Given the description of an element on the screen output the (x, y) to click on. 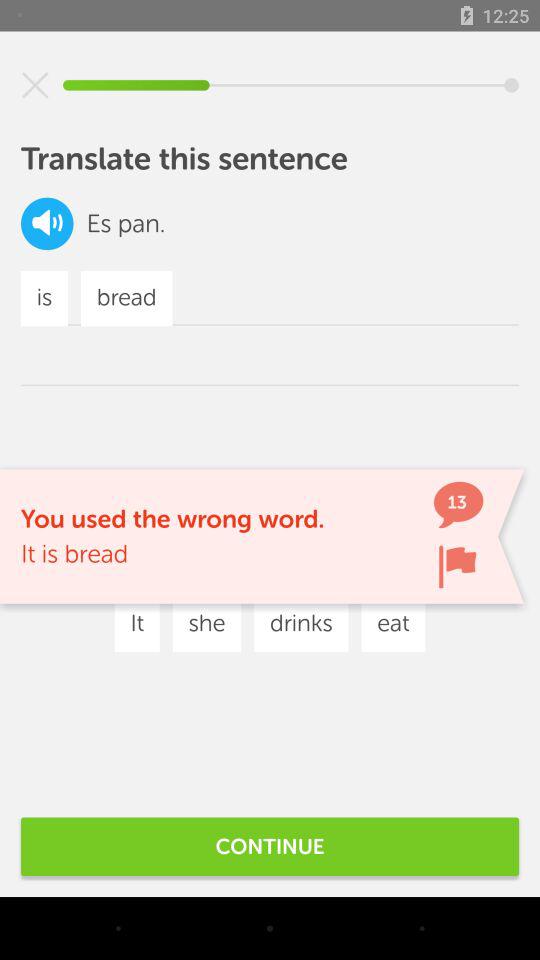
close out of the current screen (35, 85)
